Given the description of an element on the screen output the (x, y) to click on. 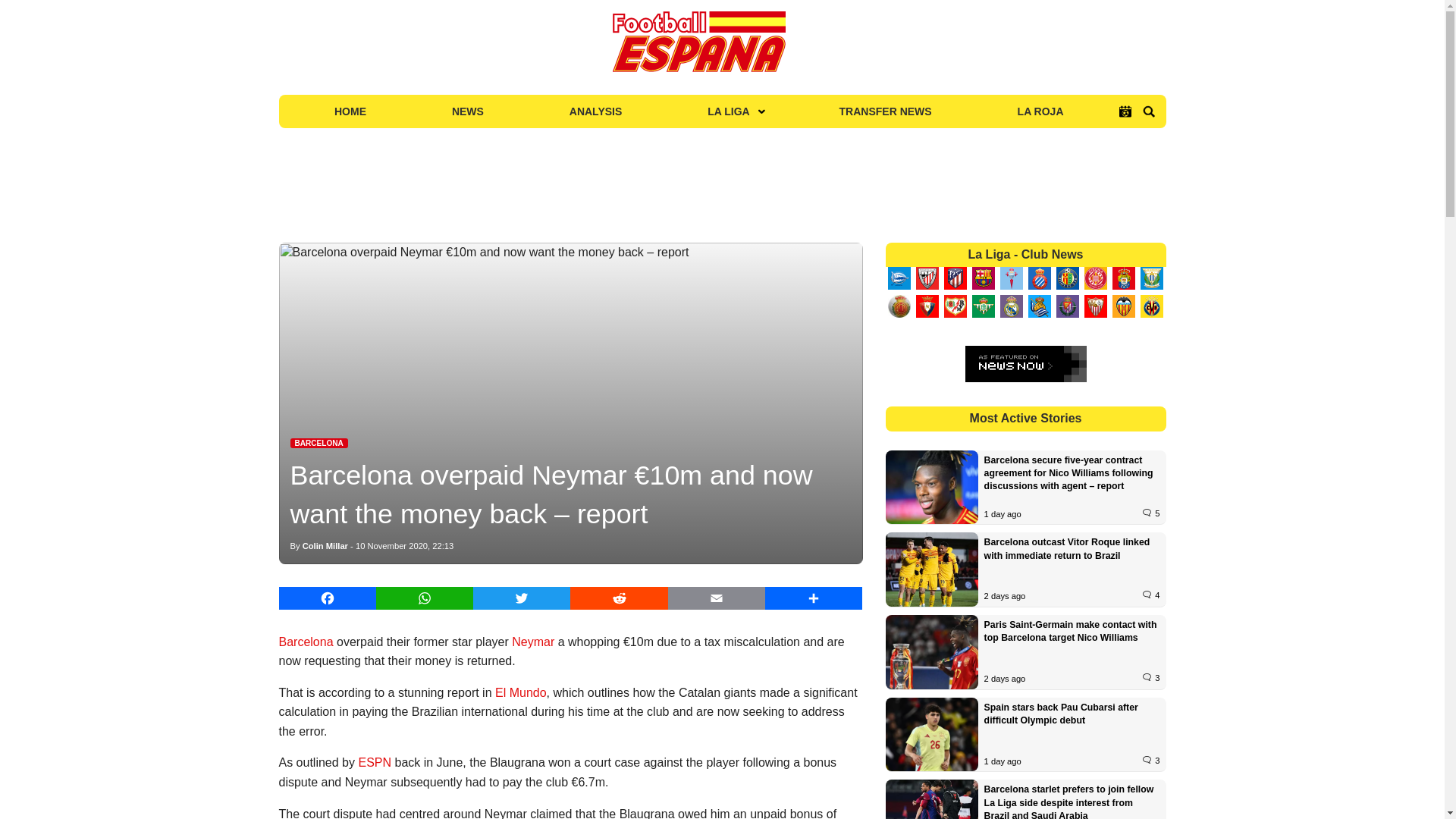
La Liga Fixtures (1125, 111)
Latest Barcelona News (318, 442)
Twitter (521, 598)
Facebook (327, 598)
TRANSFER NEWS (885, 111)
LA LIGA (729, 111)
ANALYSIS (595, 111)
Reddit (618, 598)
Search (1147, 111)
WhatsApp (424, 598)
HOME (350, 111)
Email (716, 598)
LA ROJA (1040, 111)
NEWS (468, 111)
